Given the description of an element on the screen output the (x, y) to click on. 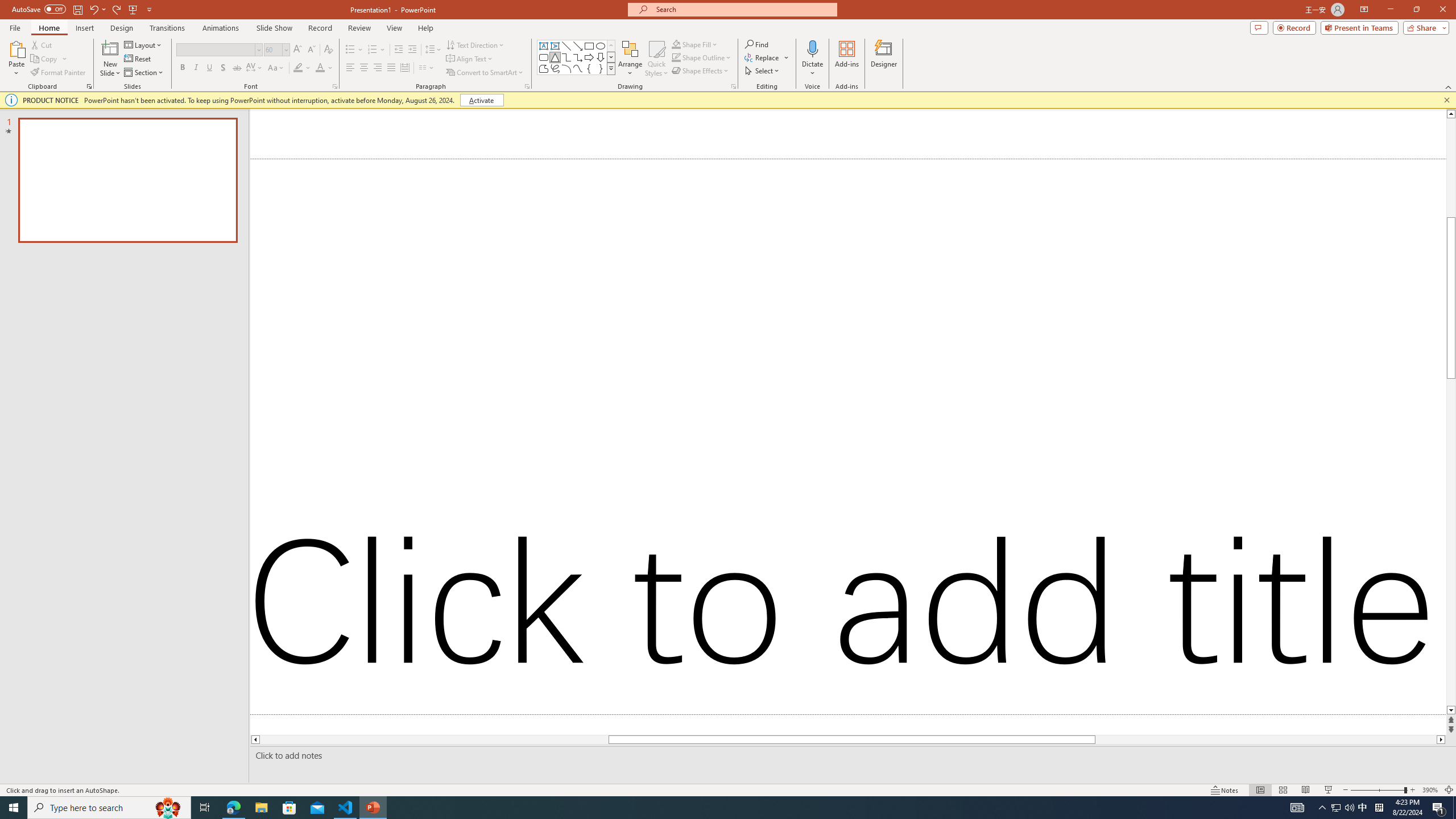
Rectangle: Rounded Corners (543, 57)
Freeform: Shape (543, 68)
Align Right (377, 67)
Change Case (276, 67)
Paste (16, 48)
Arrange (630, 58)
